Given the description of an element on the screen output the (x, y) to click on. 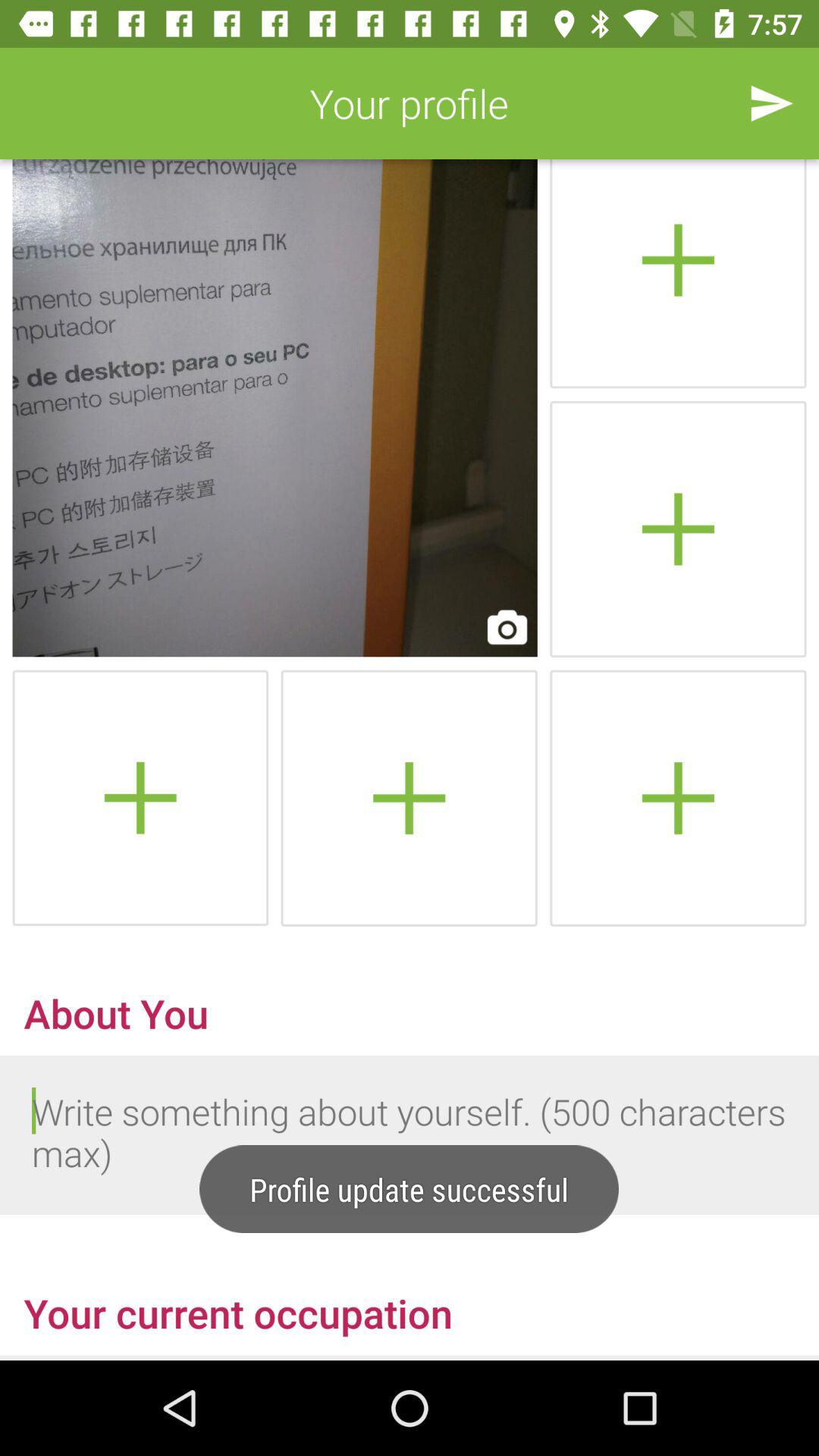
click the image (274, 407)
